Given the description of an element on the screen output the (x, y) to click on. 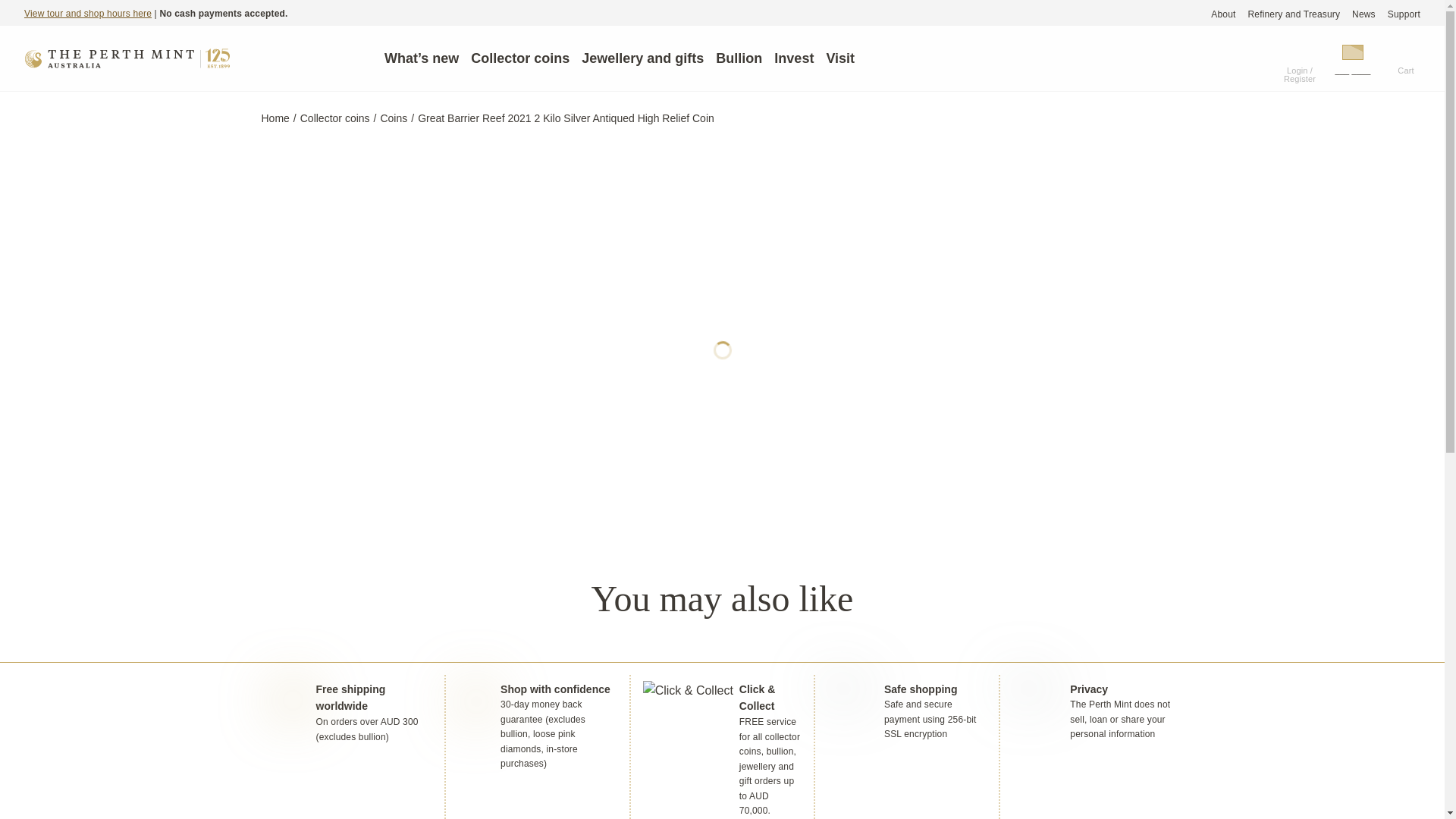
Collector coins (519, 57)
Refinery and Treasury (1293, 14)
About (1222, 14)
Support (1404, 14)
News (1363, 14)
View tour and shop hours here (87, 13)
